Given the description of an element on the screen output the (x, y) to click on. 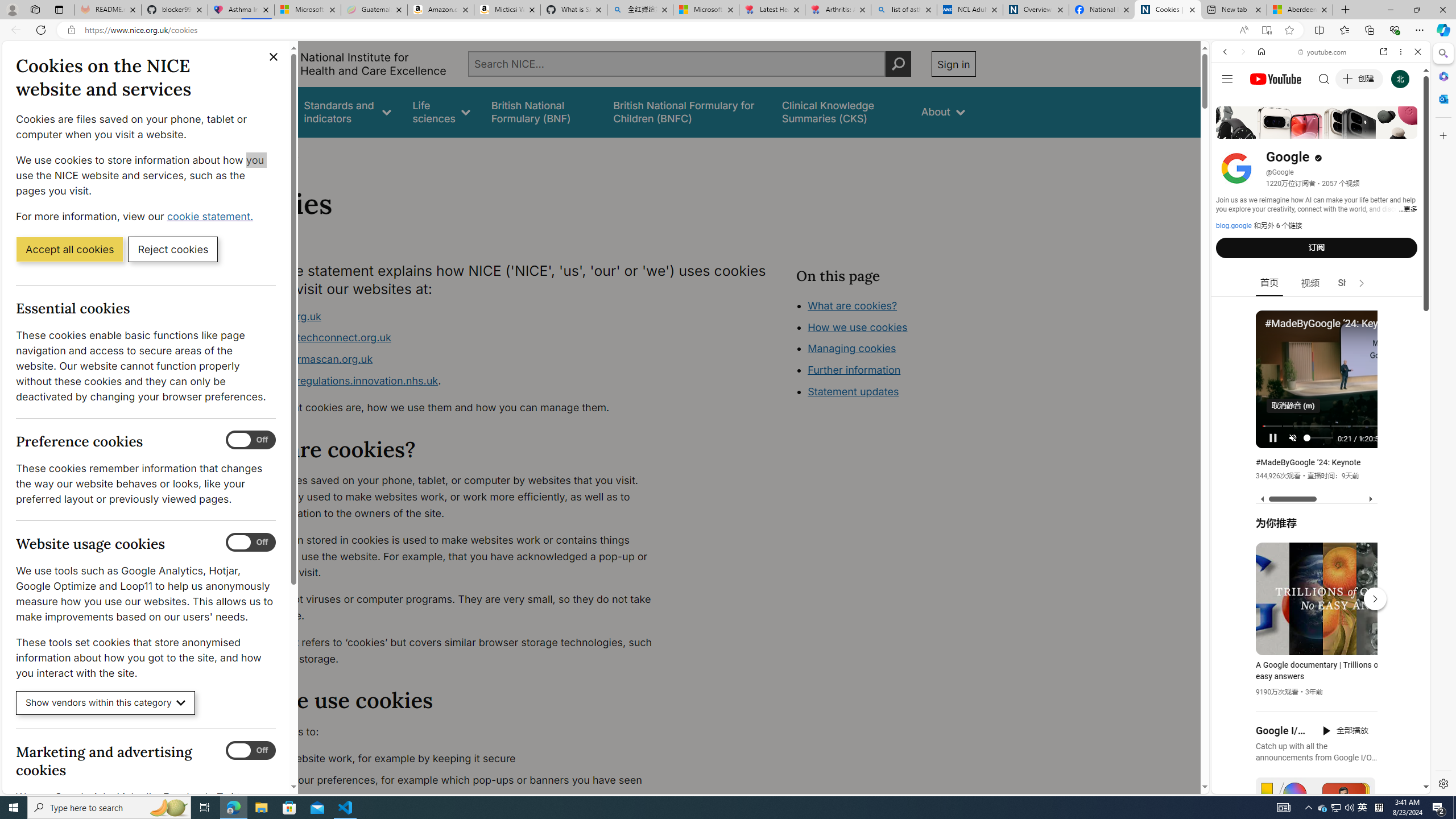
Global web icon (1232, 655)
Music (1320, 309)
Shorts (1351, 283)
www.nice.org.uk (279, 315)
Google (1320, 281)
Click to scroll right (1407, 456)
Close Outlook pane (1442, 98)
list of asthma inhalers uk - Search (904, 9)
AutomationID: right (1361, 283)
New tab (1233, 9)
